Given the description of an element on the screen output the (x, y) to click on. 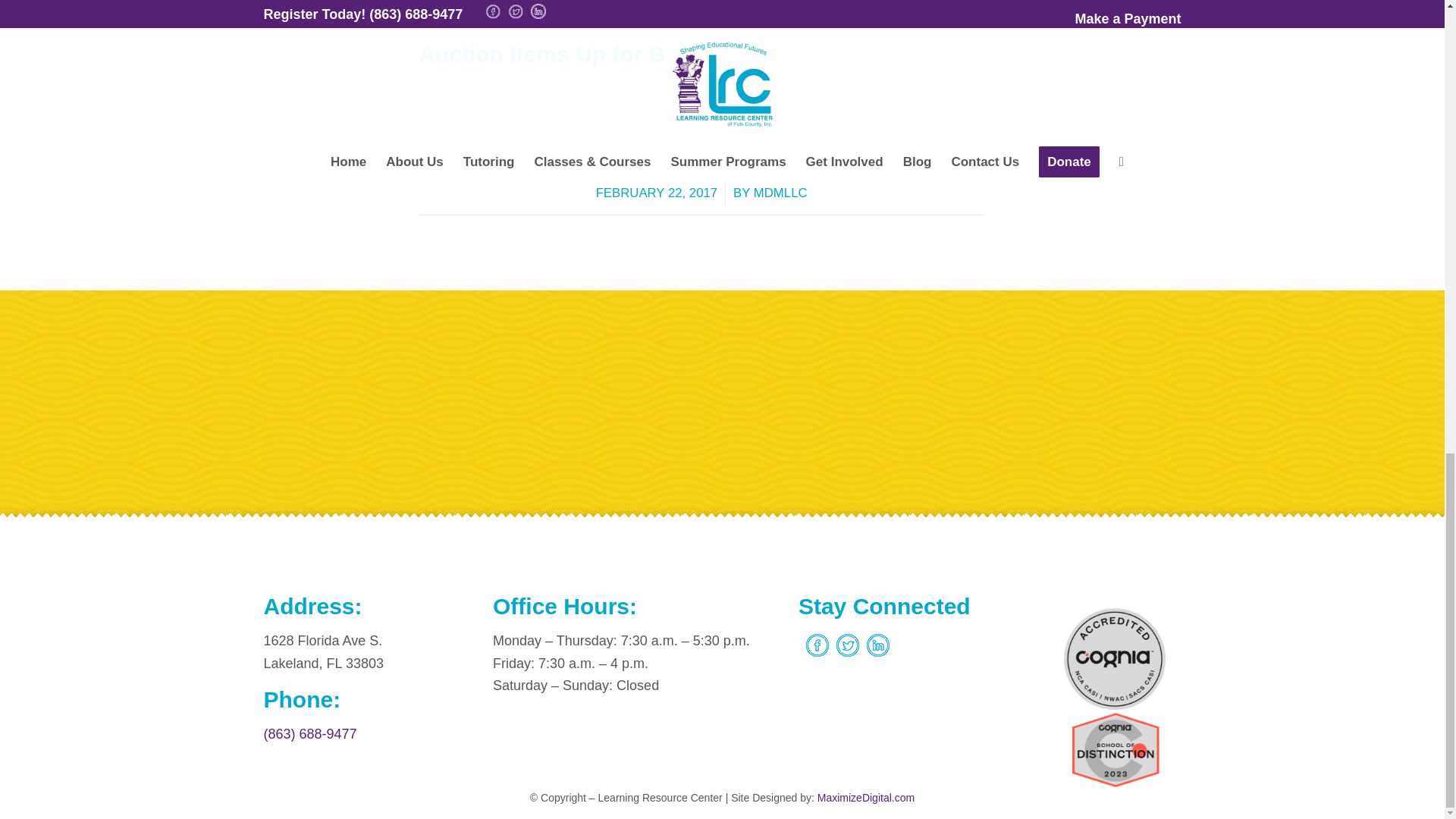
Posts by mdmllc (781, 192)
